Given the description of an element on the screen output the (x, y) to click on. 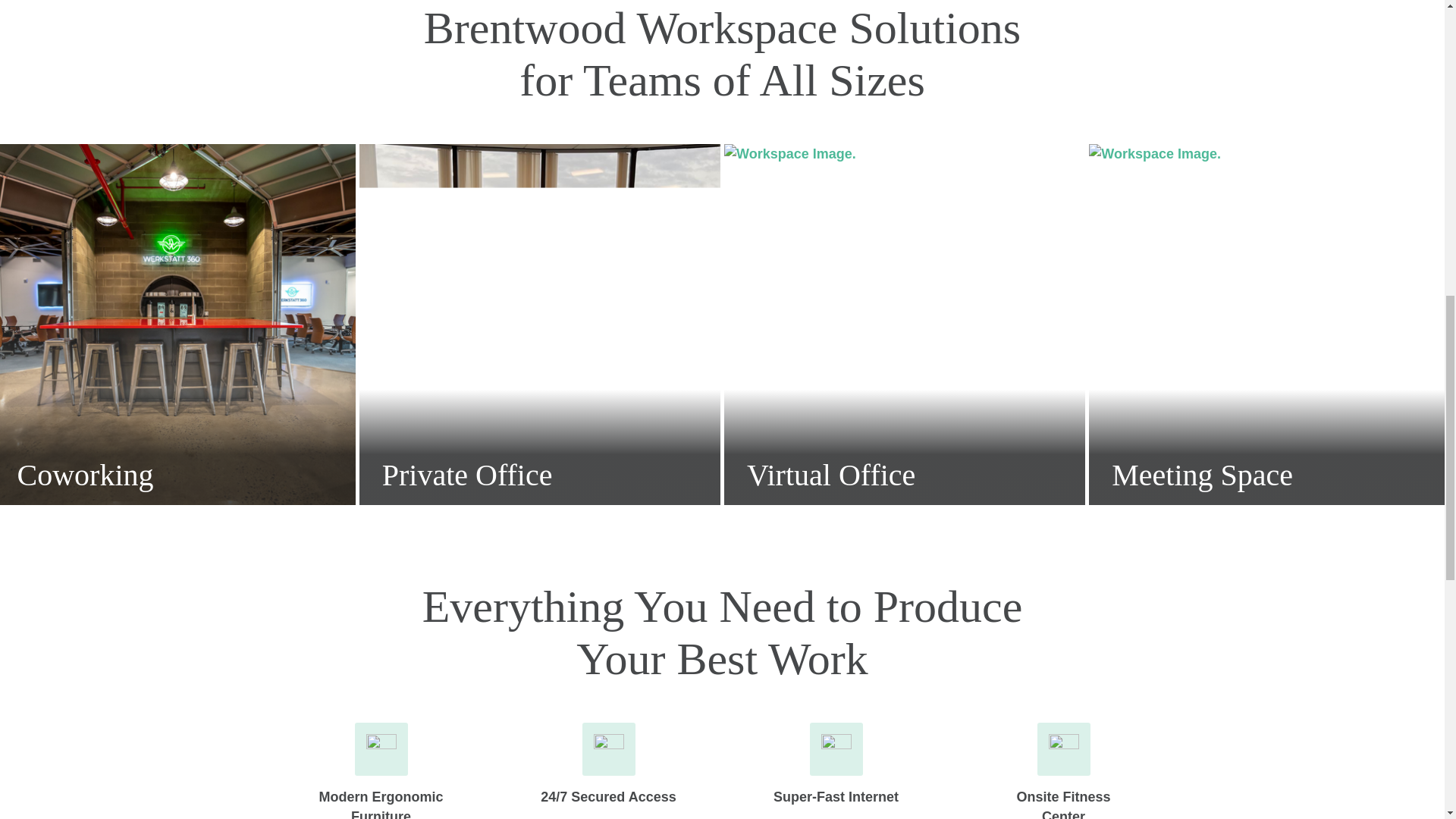
Meeting Space (1269, 324)
Virtual Office (903, 324)
Private Office (539, 324)
Coworking (177, 324)
